Given the description of an element on the screen output the (x, y) to click on. 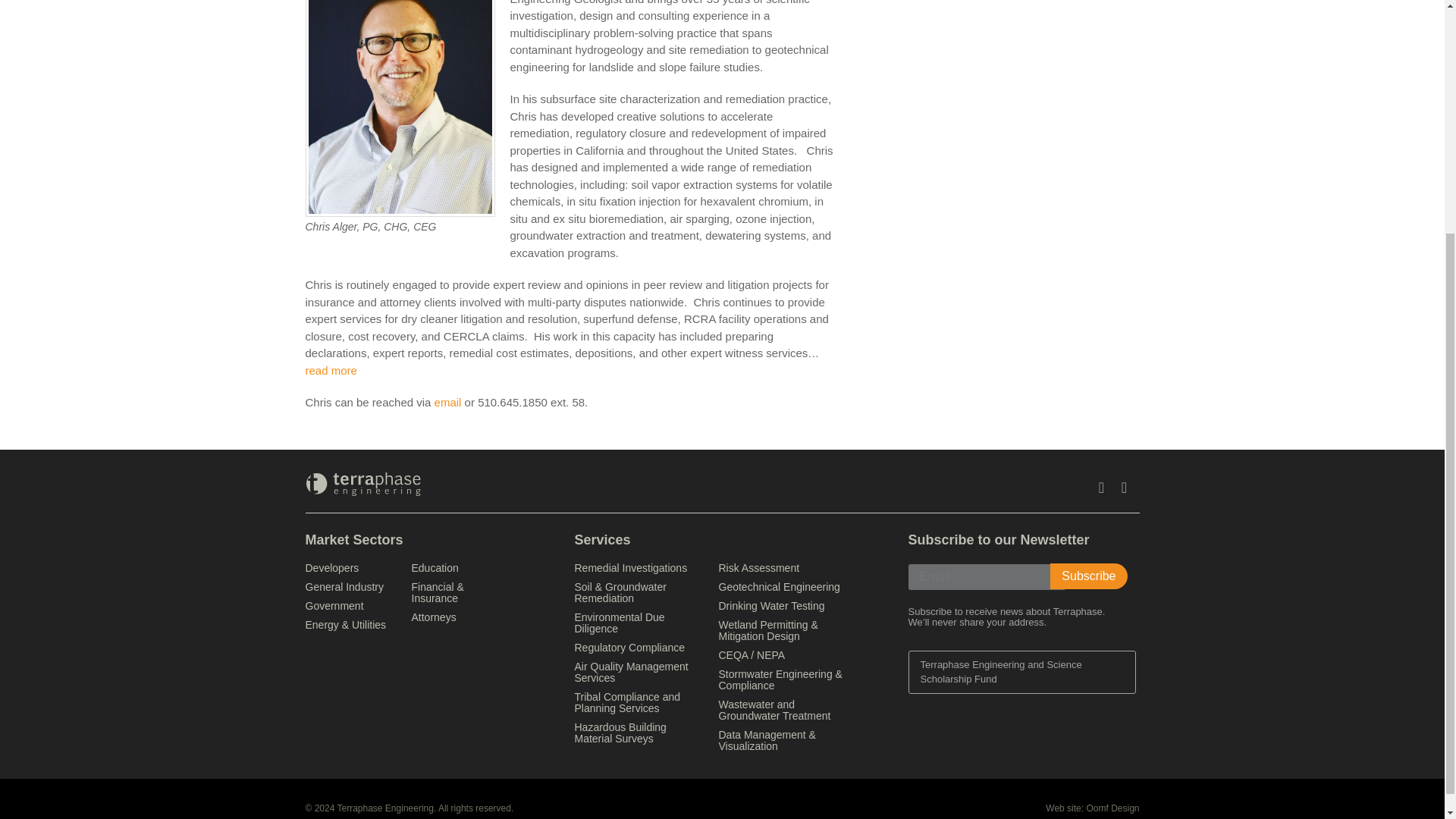
read more (330, 369)
Subscribe (1087, 575)
email (447, 401)
Developers (331, 567)
General Industry (344, 586)
Government (333, 605)
